Given the description of an element on the screen output the (x, y) to click on. 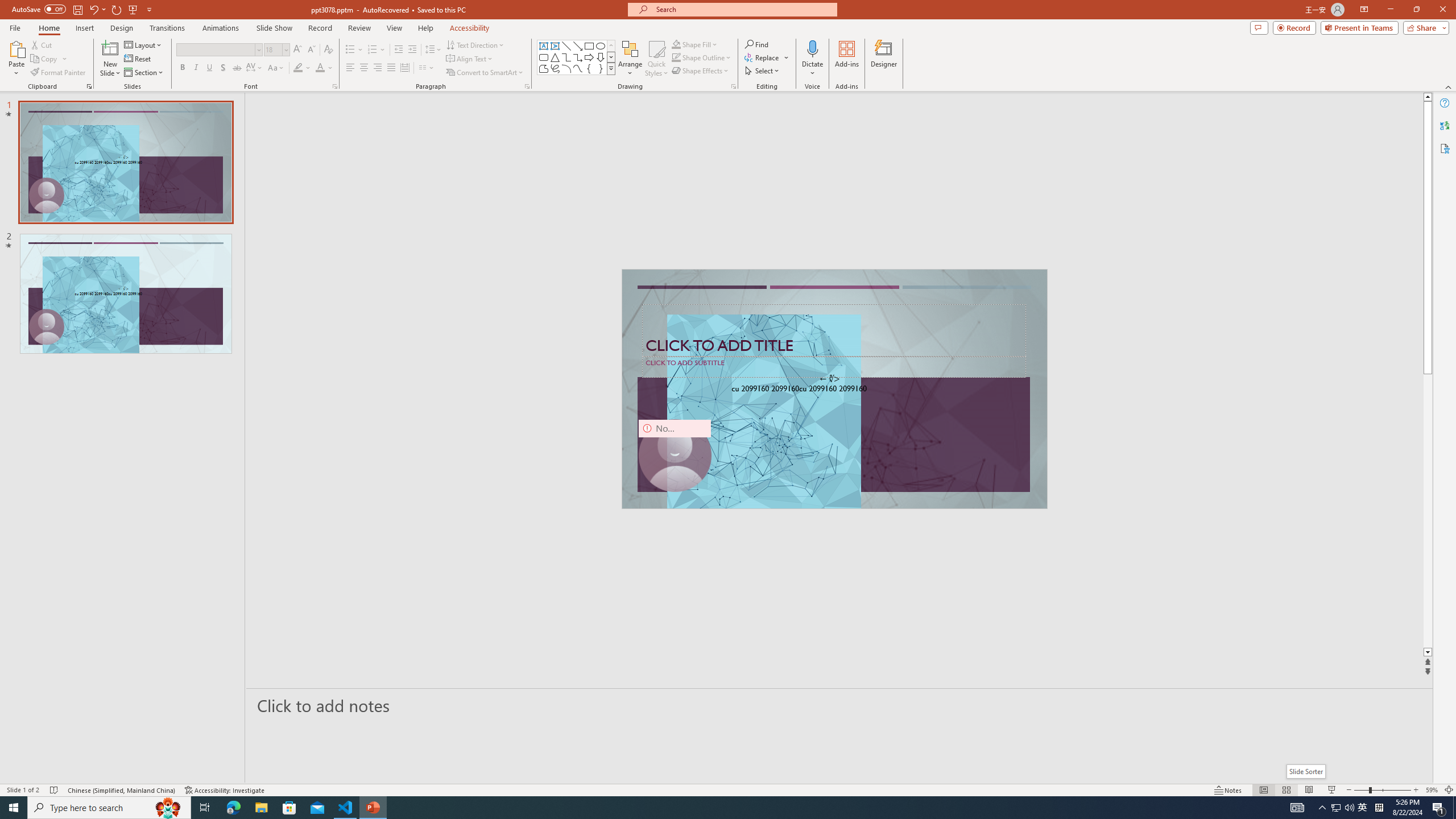
An abstract genetic concept (833, 388)
Zoom 59% (1431, 790)
